Given the description of an element on the screen output the (x, y) to click on. 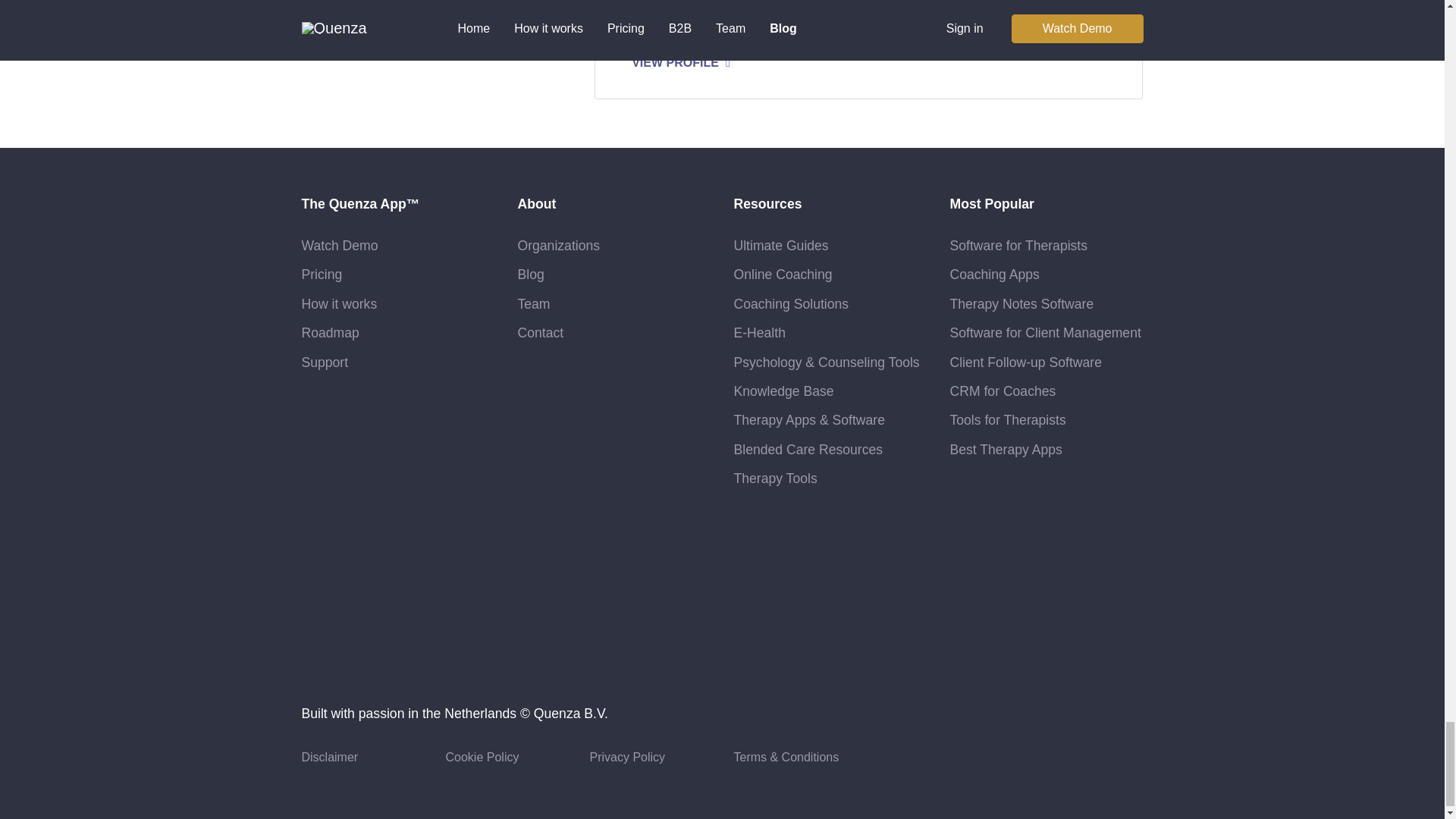
Pricing (321, 273)
Support (325, 362)
How it works (339, 304)
Watch Demo (339, 245)
VIEW PROFILE (684, 62)
Blog (529, 273)
Roadmap (330, 332)
Organizations (557, 245)
